Given the description of an element on the screen output the (x, y) to click on. 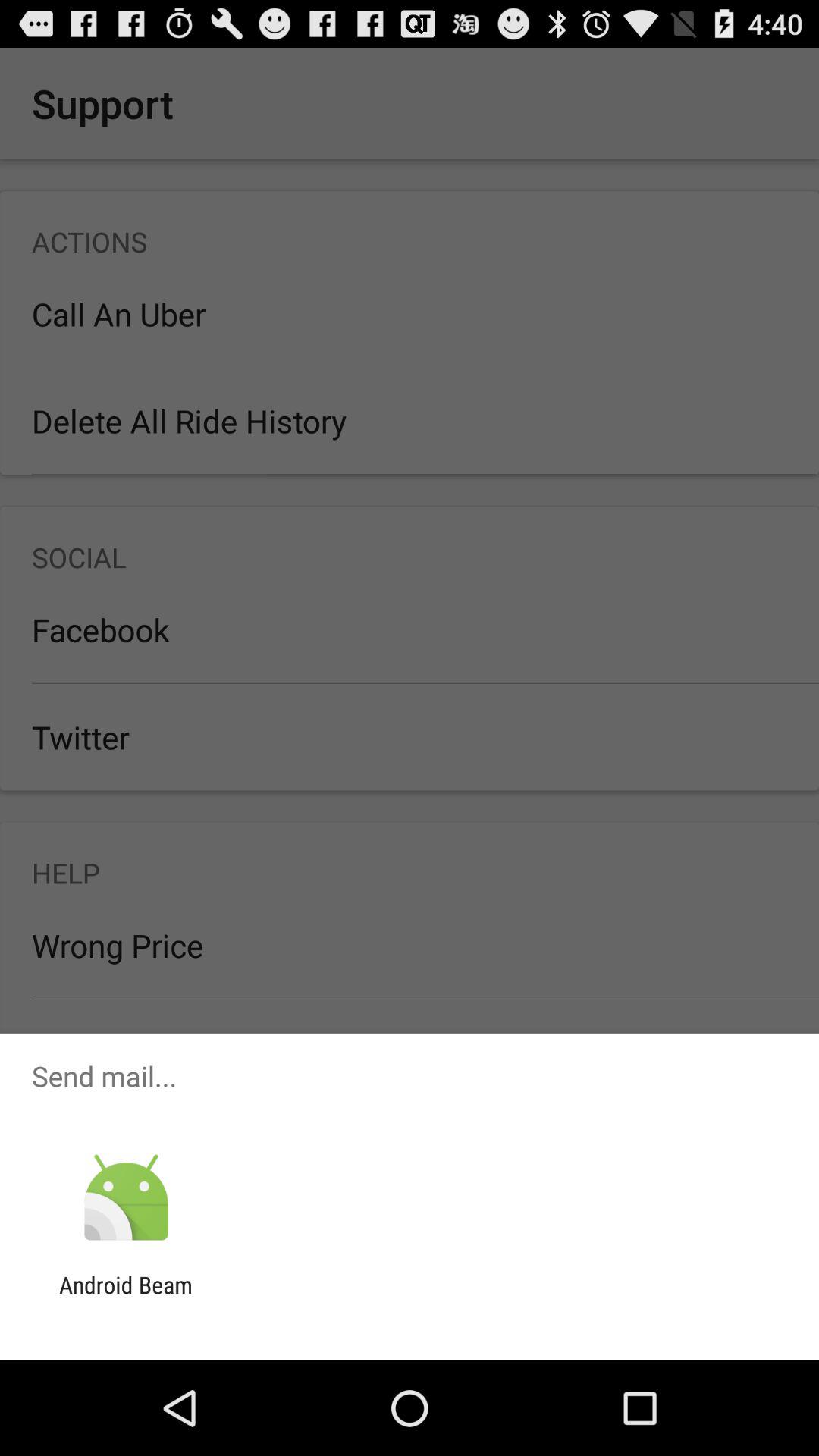
press app above android beam icon (126, 1198)
